Given the description of an element on the screen output the (x, y) to click on. 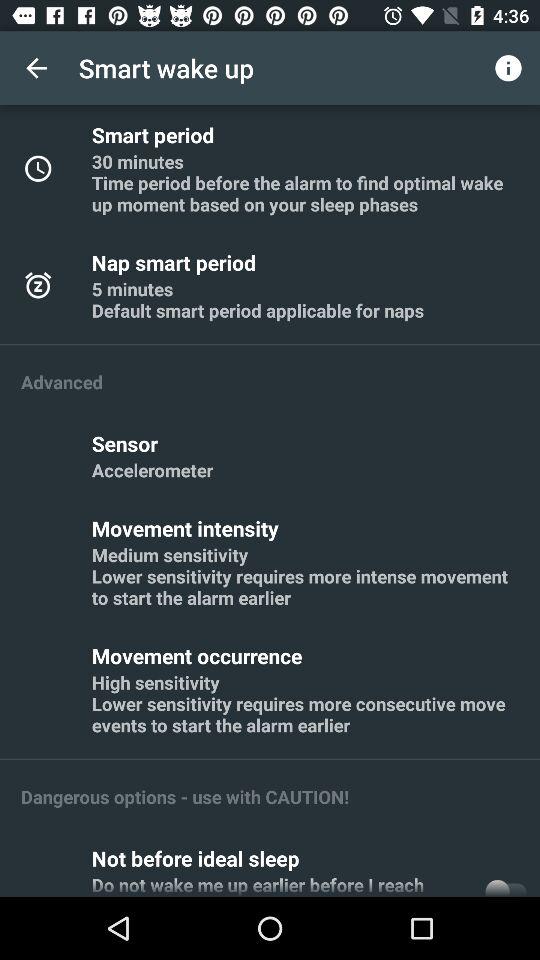
launch accelerometer (152, 469)
